Given the description of an element on the screen output the (x, y) to click on. 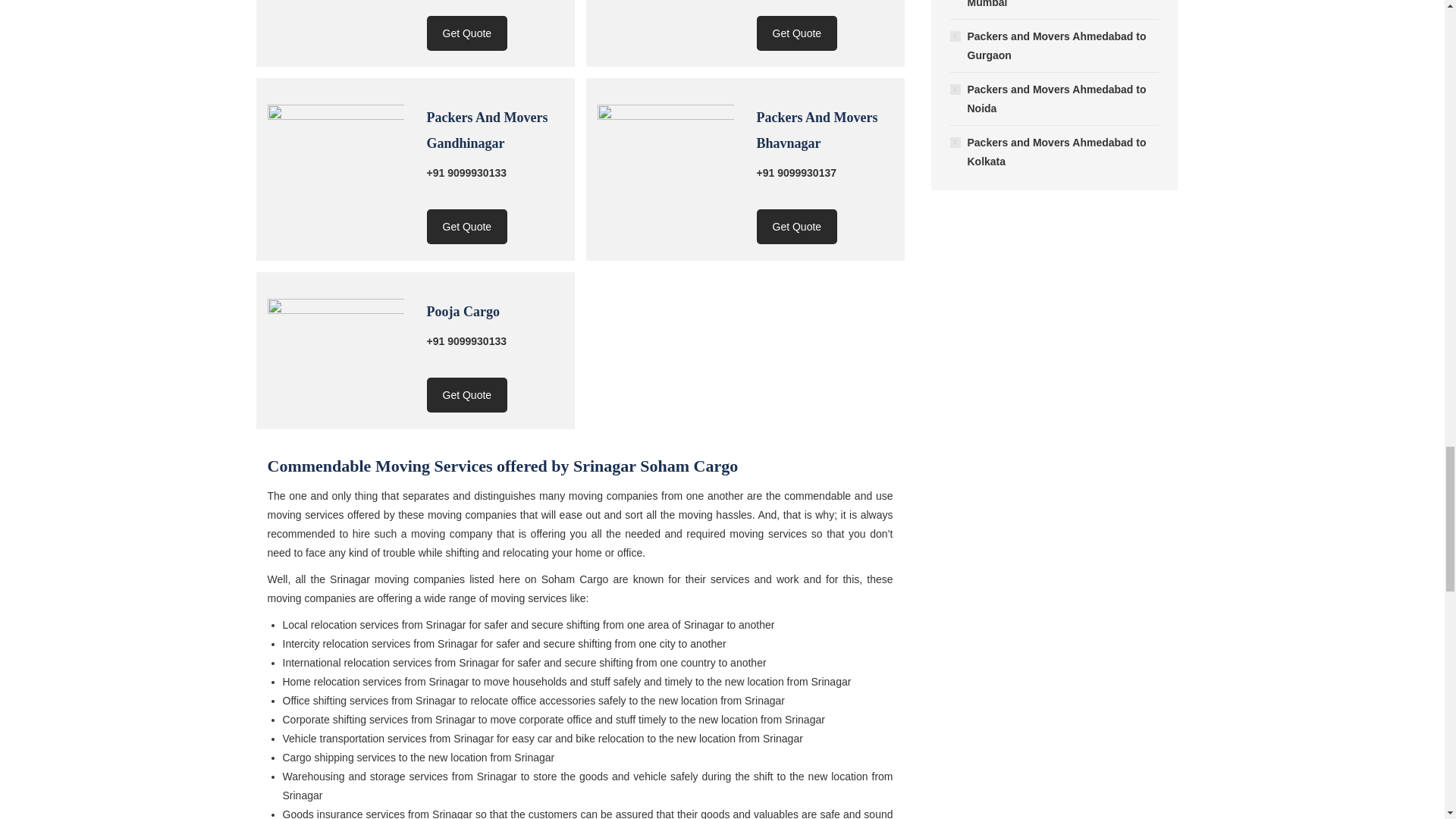
Enquiry (797, 226)
Enquiry (466, 226)
Enquiry (797, 32)
Enquiry (466, 32)
Enquiry (466, 394)
